Given the description of an element on the screen output the (x, y) to click on. 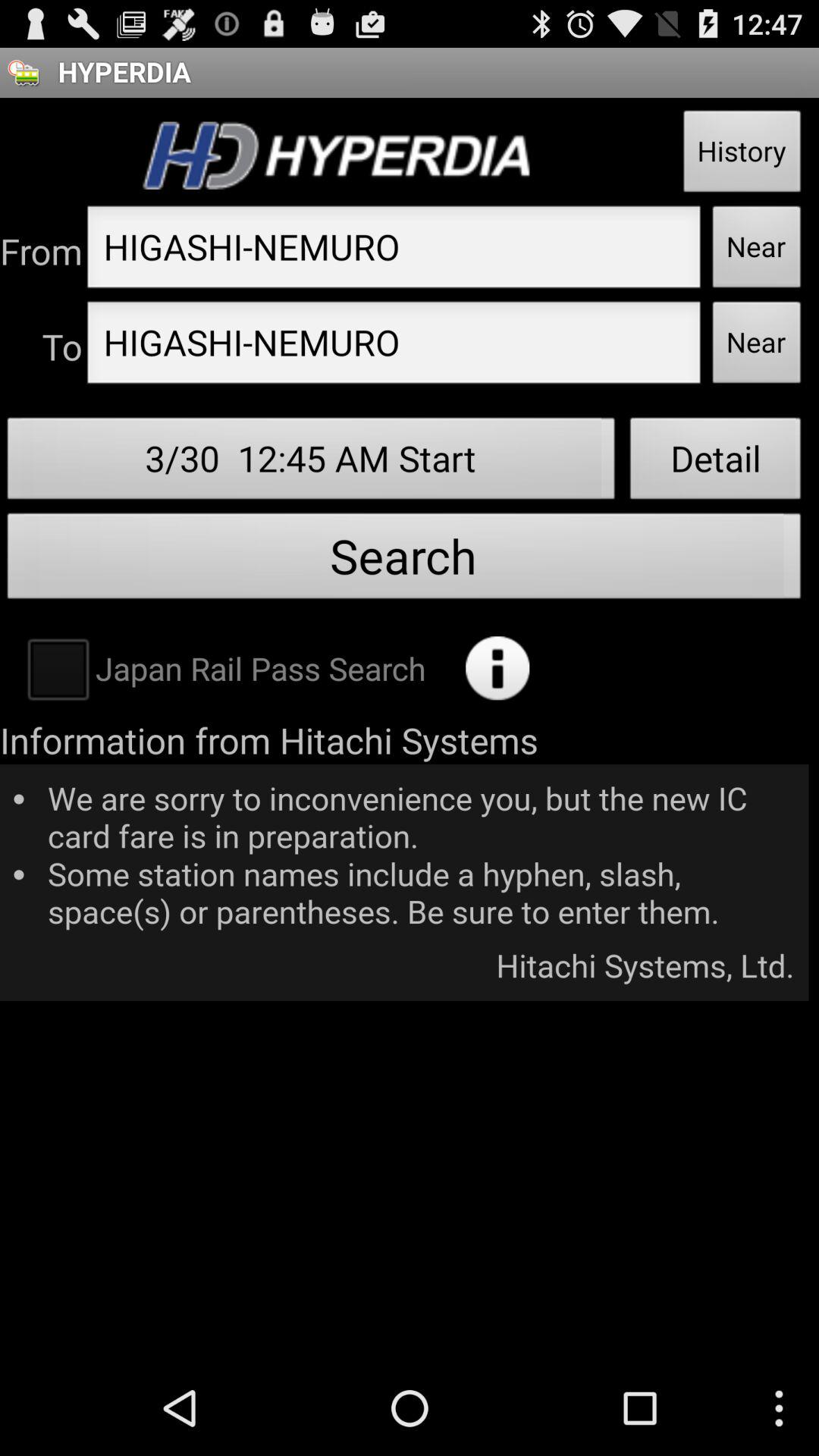
search (497, 668)
